Given the description of an element on the screen output the (x, y) to click on. 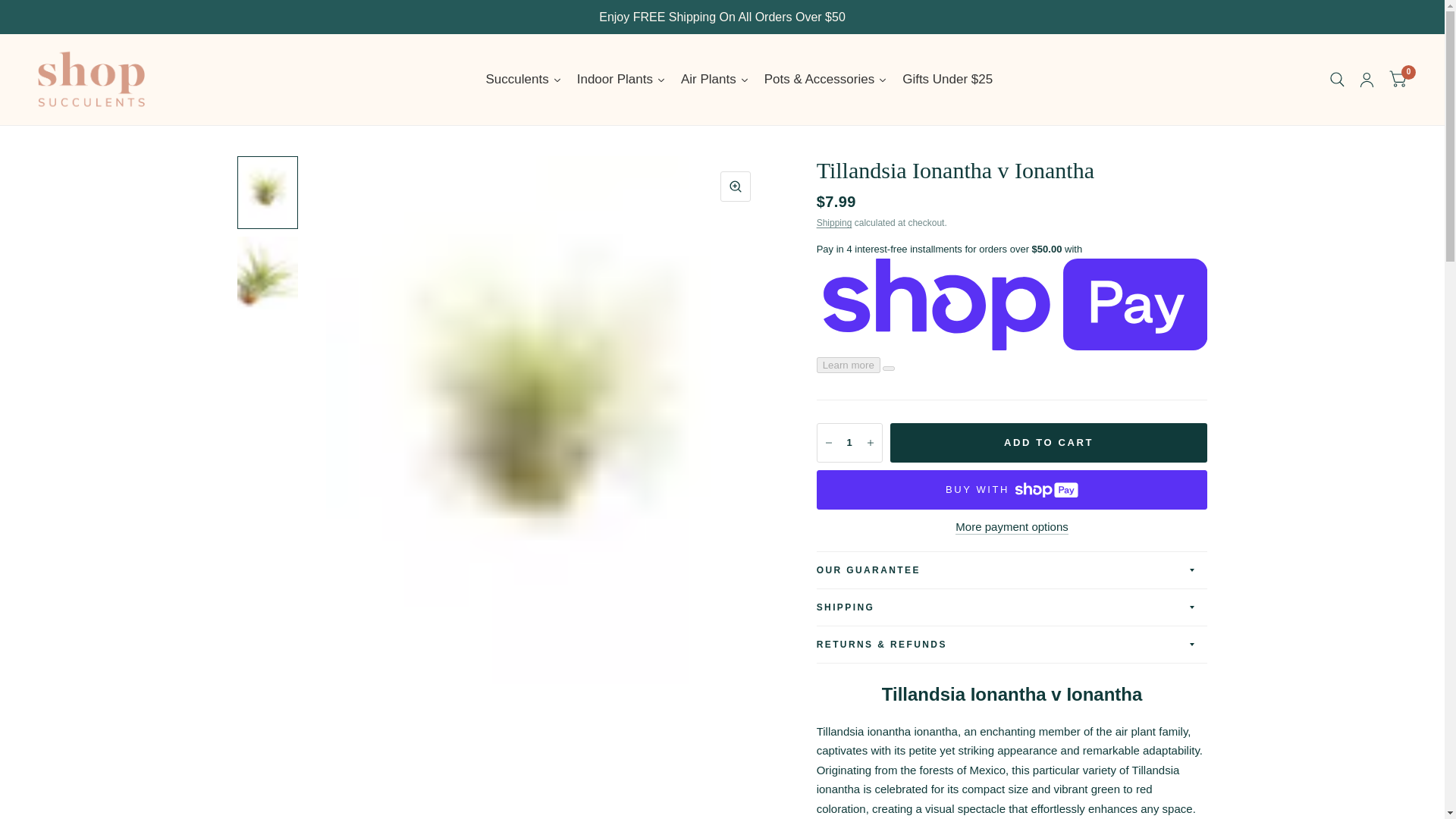
Indoor Plants (620, 79)
Air Plants (714, 79)
Succulents (524, 79)
Succulents (524, 79)
More payment options (1011, 526)
Air Plants (714, 79)
Shipping (833, 222)
Indoor Plants (620, 79)
ADD TO CART (1048, 442)
